Given the description of an element on the screen output the (x, y) to click on. 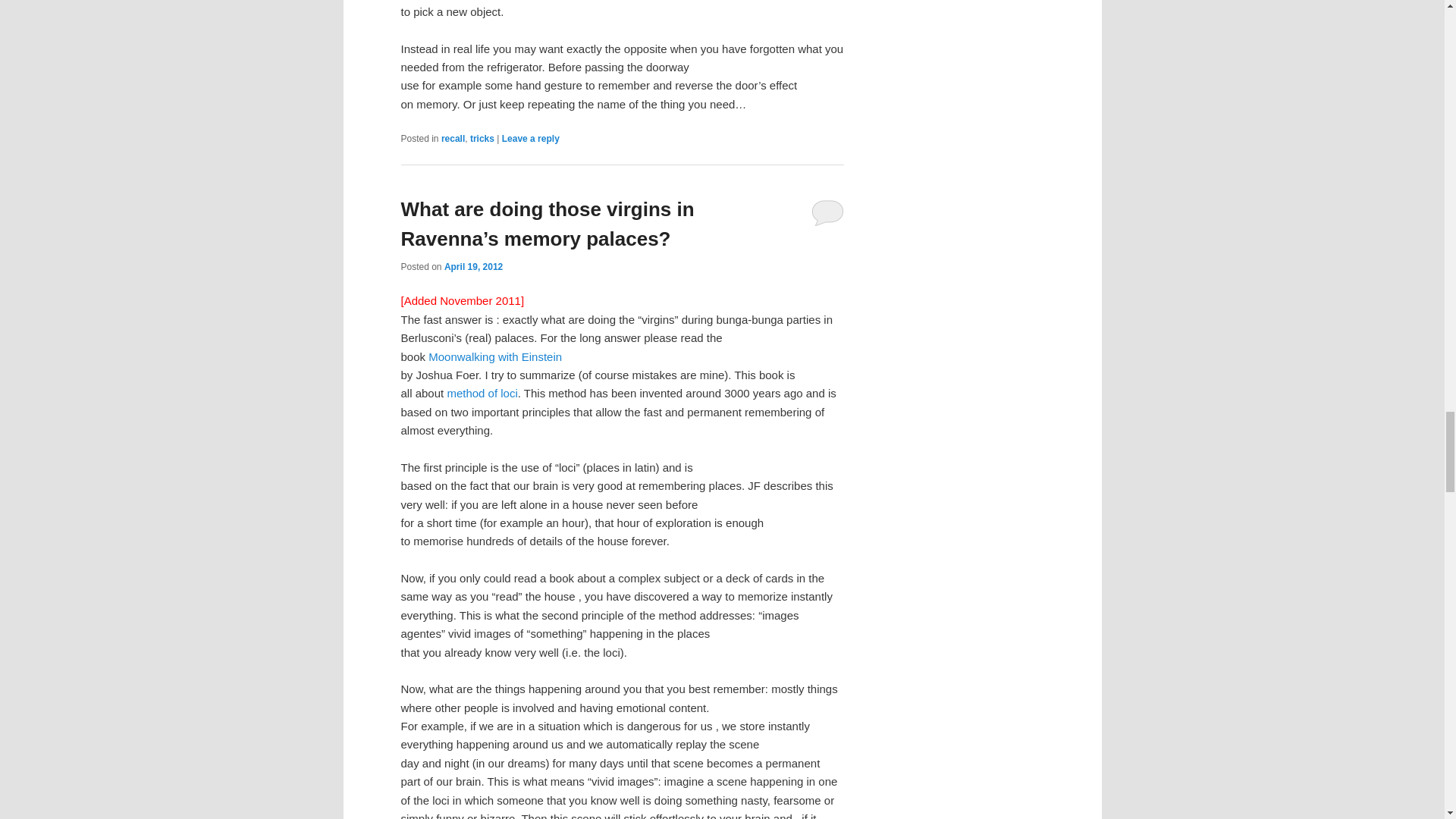
Leave a reply (530, 138)
recall (452, 138)
tricks (482, 138)
